Given the description of an element on the screen output the (x, y) to click on. 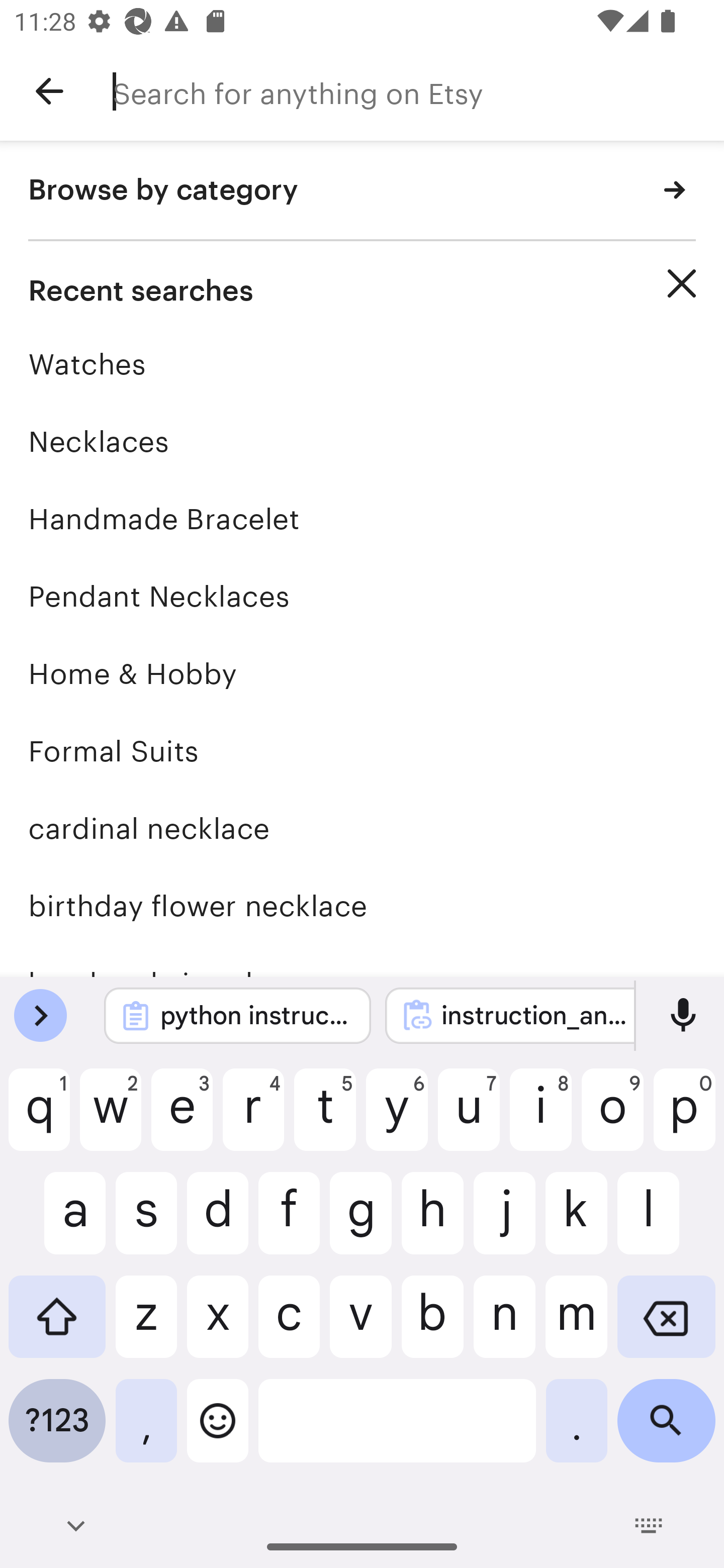
Navigate up (49, 91)
Search for anything on Etsy (418, 91)
Browse by category (362, 191)
Clear (681, 283)
Watches (362, 364)
Necklaces (362, 440)
Handmade Bracelet (362, 518)
Pendant Necklaces (362, 596)
Home & Hobby (362, 673)
Formal Suits (362, 750)
cardinal necklace (362, 828)
birthday flower necklace (362, 906)
